Given the description of an element on the screen output the (x, y) to click on. 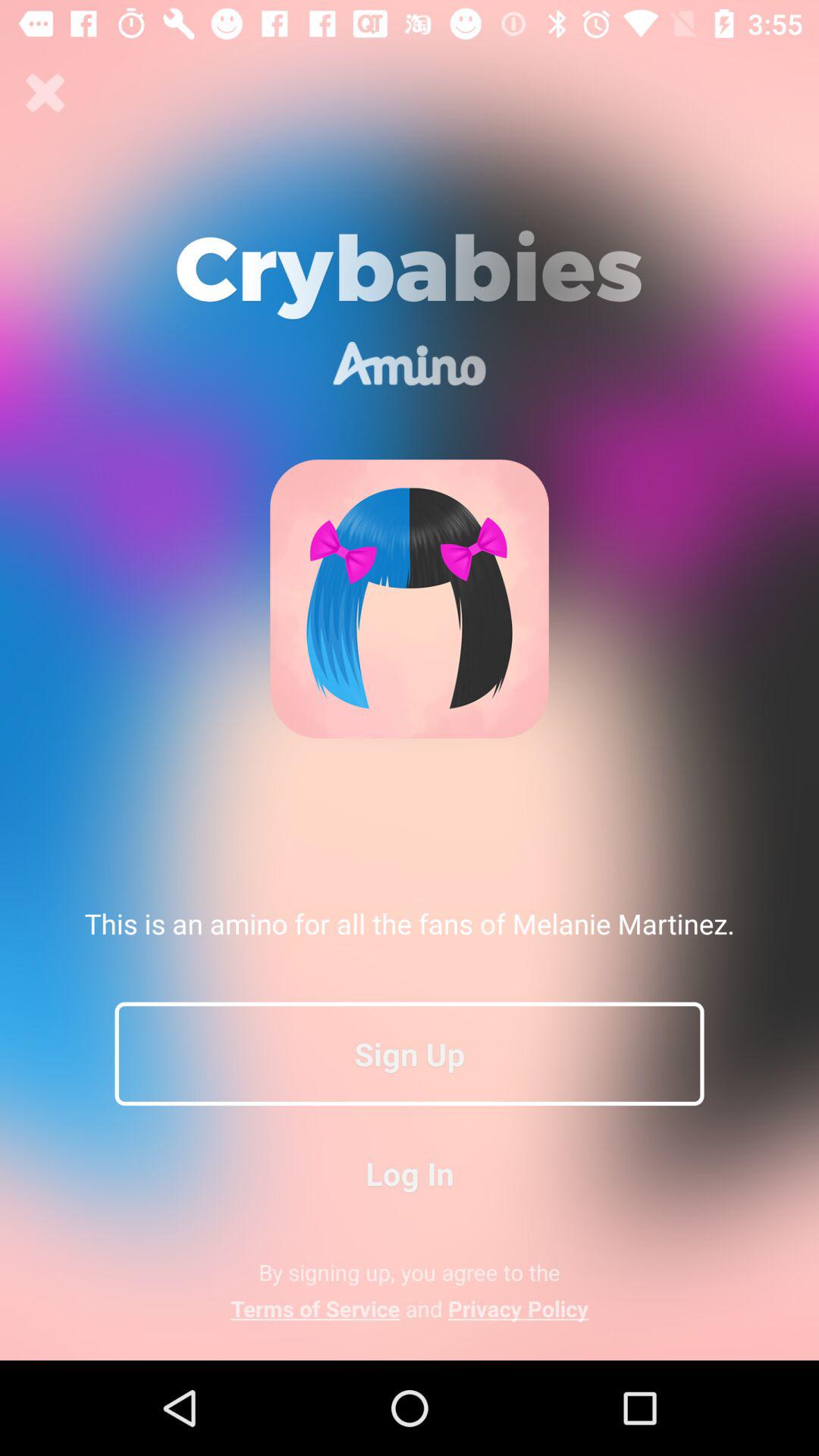
close page (45, 93)
